Given the description of an element on the screen output the (x, y) to click on. 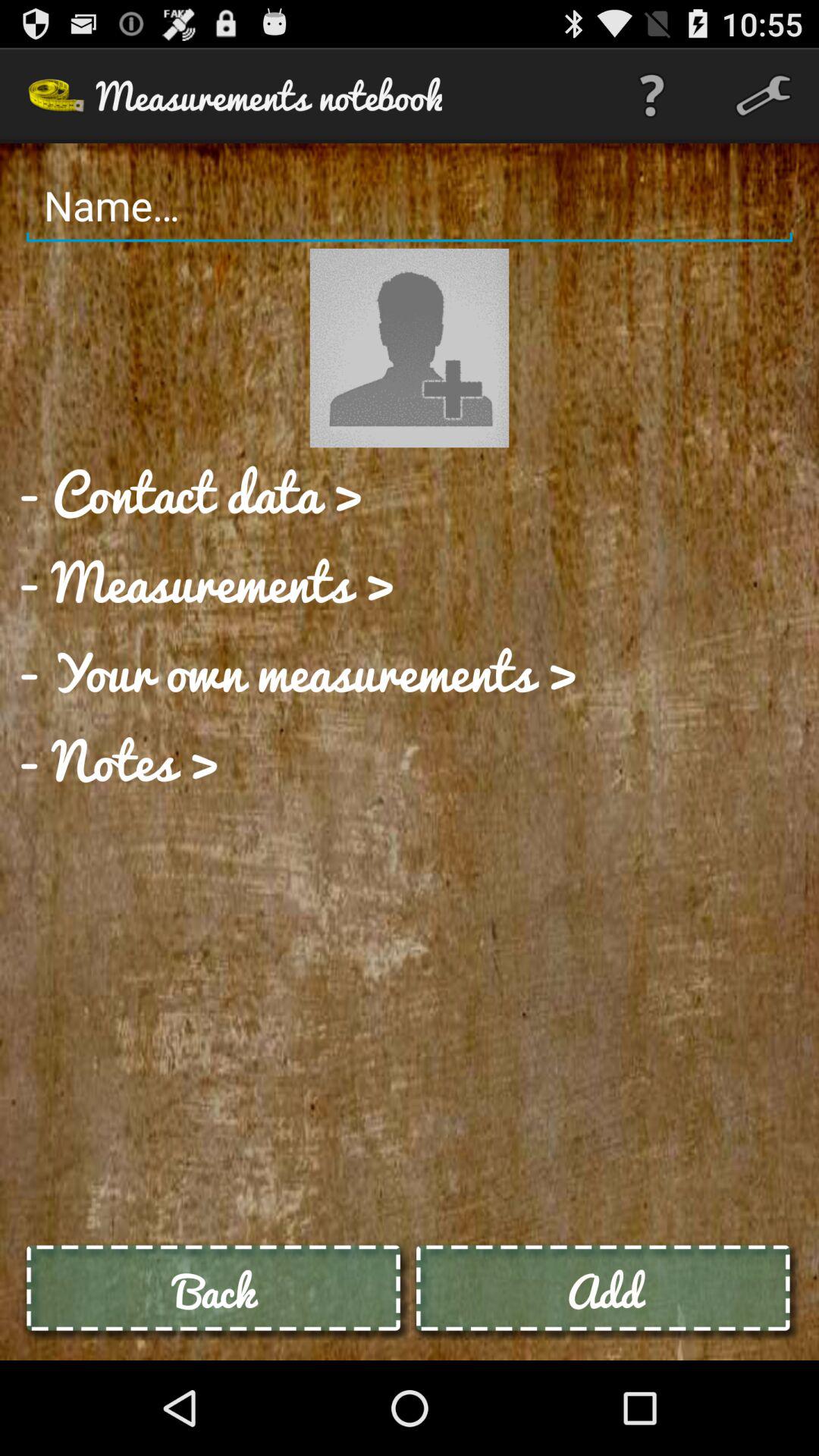
press the item above - notes > item (297, 670)
